Given the description of an element on the screen output the (x, y) to click on. 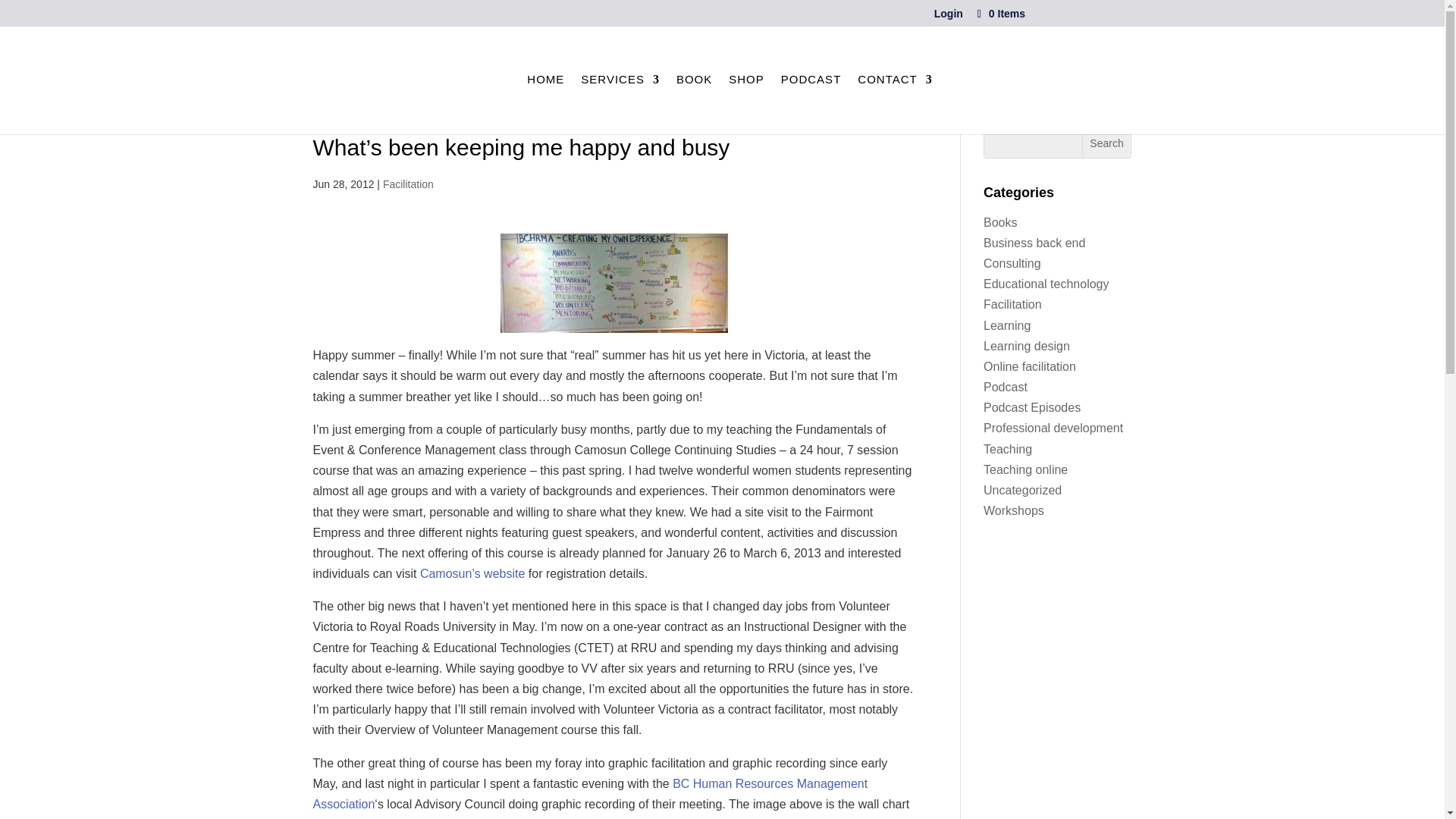
Podcast (1005, 386)
BC Human Resources Management Association (590, 793)
Learning design (1027, 345)
SERVICES (619, 86)
Learning (1007, 325)
BOOK (694, 86)
PODCAST (810, 86)
Educational technology (1046, 283)
Login (948, 16)
Business back end (1034, 242)
